Given the description of an element on the screen output the (x, y) to click on. 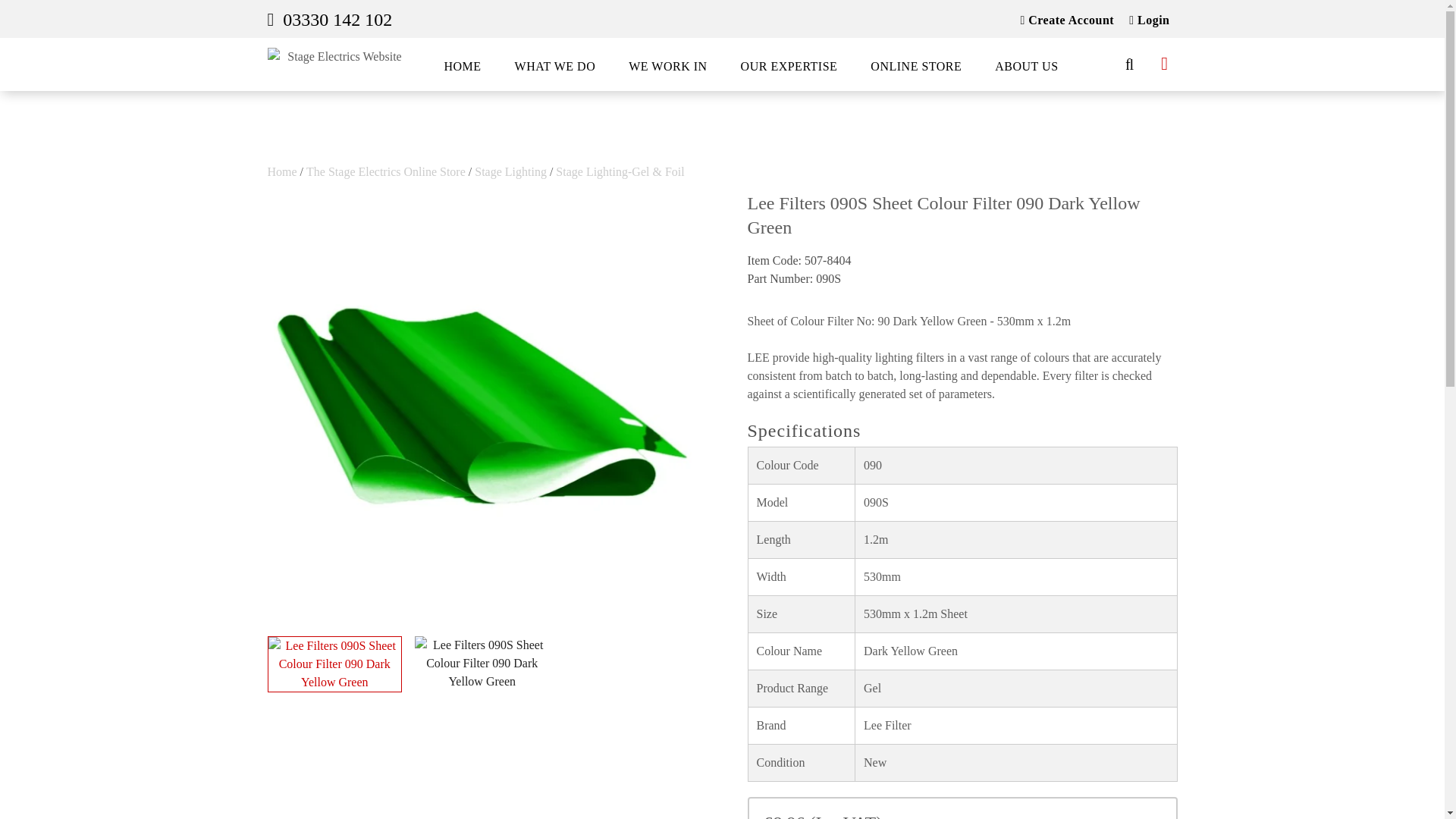
Lee Filters 090S Sheet Colour Filter 090 Dark Yellow Green (481, 663)
Lee Filters 090S Sheet Colour Filter 090 Dark Yellow Green (334, 664)
